Given the description of an element on the screen output the (x, y) to click on. 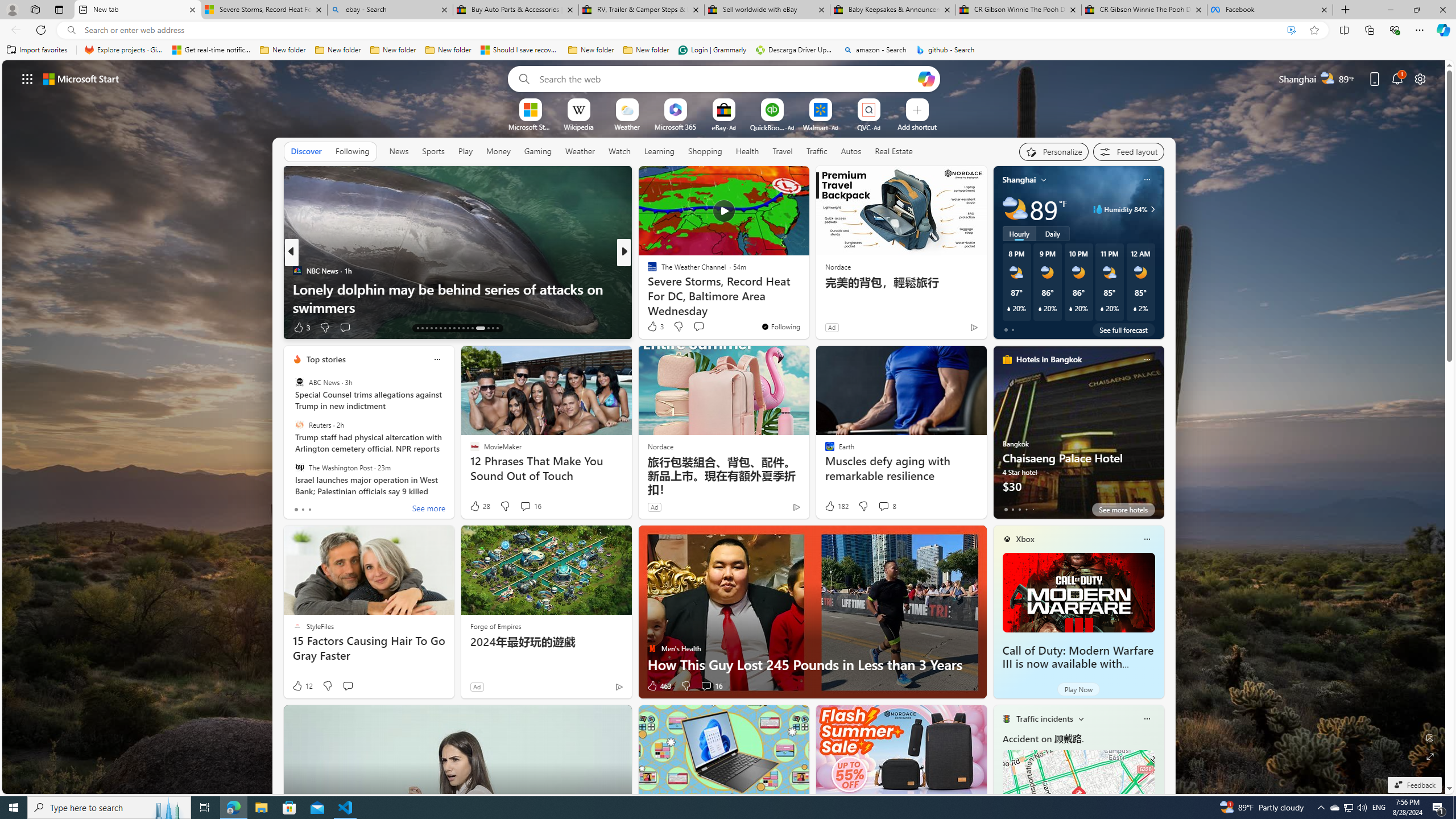
Traffic (816, 151)
Partly cloudy (1014, 208)
AutomationID: tab-19 (444, 328)
Daily (1052, 233)
You're following The Weather Channel (780, 326)
Gaming (537, 151)
Weather (580, 151)
AutomationID: tab-22 (458, 328)
Play (465, 151)
Shopping (705, 151)
Personalize your feed" (1054, 151)
